Given the description of an element on the screen output the (x, y) to click on. 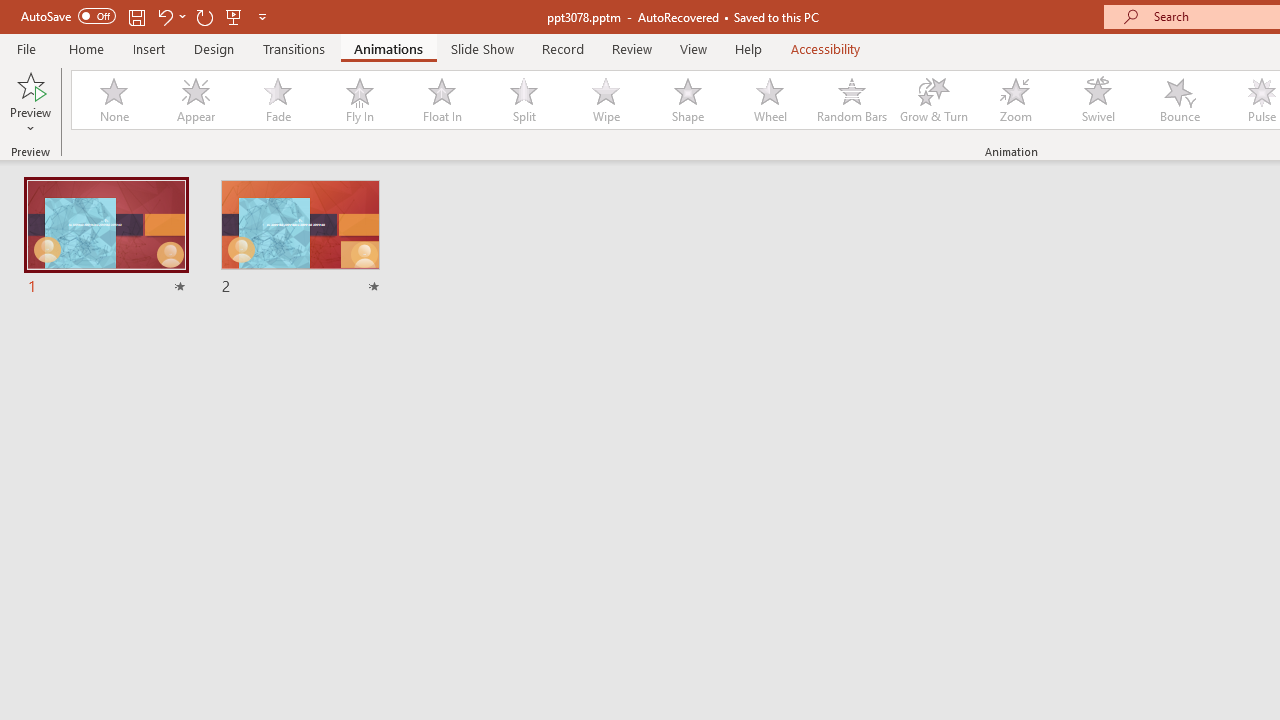
Wheel (770, 100)
None (113, 100)
Grow & Turn (934, 100)
Fade (277, 100)
Float In (441, 100)
